Given the description of an element on the screen output the (x, y) to click on. 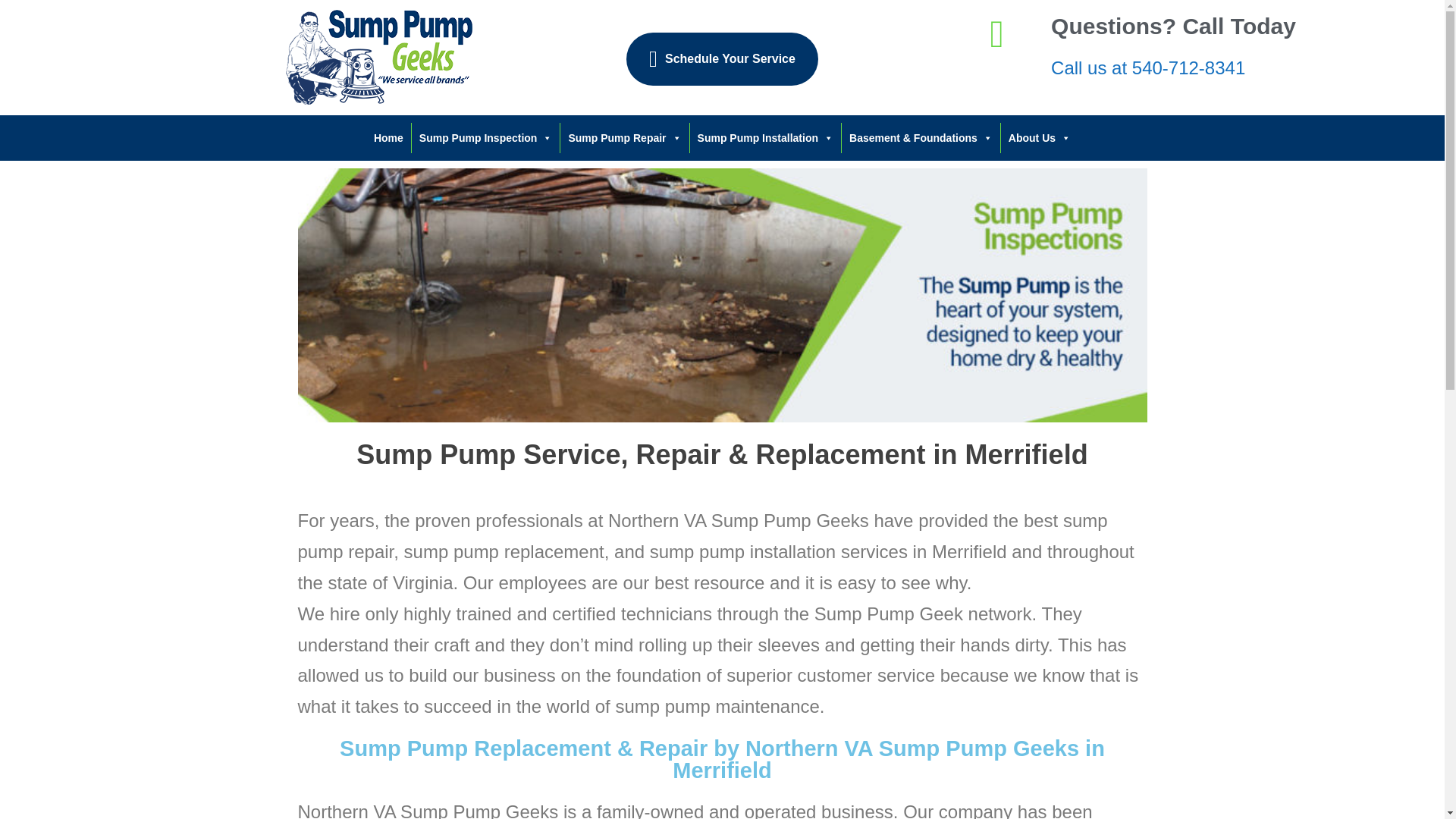
Call us at 540-712-8341 (1147, 67)
Sump Pump Inspection (486, 137)
About Us (1039, 137)
Schedule Your Service (722, 58)
Home (388, 137)
Sump Pump Repair (624, 137)
Sump Pump Installation (765, 137)
